Given the description of an element on the screen output the (x, y) to click on. 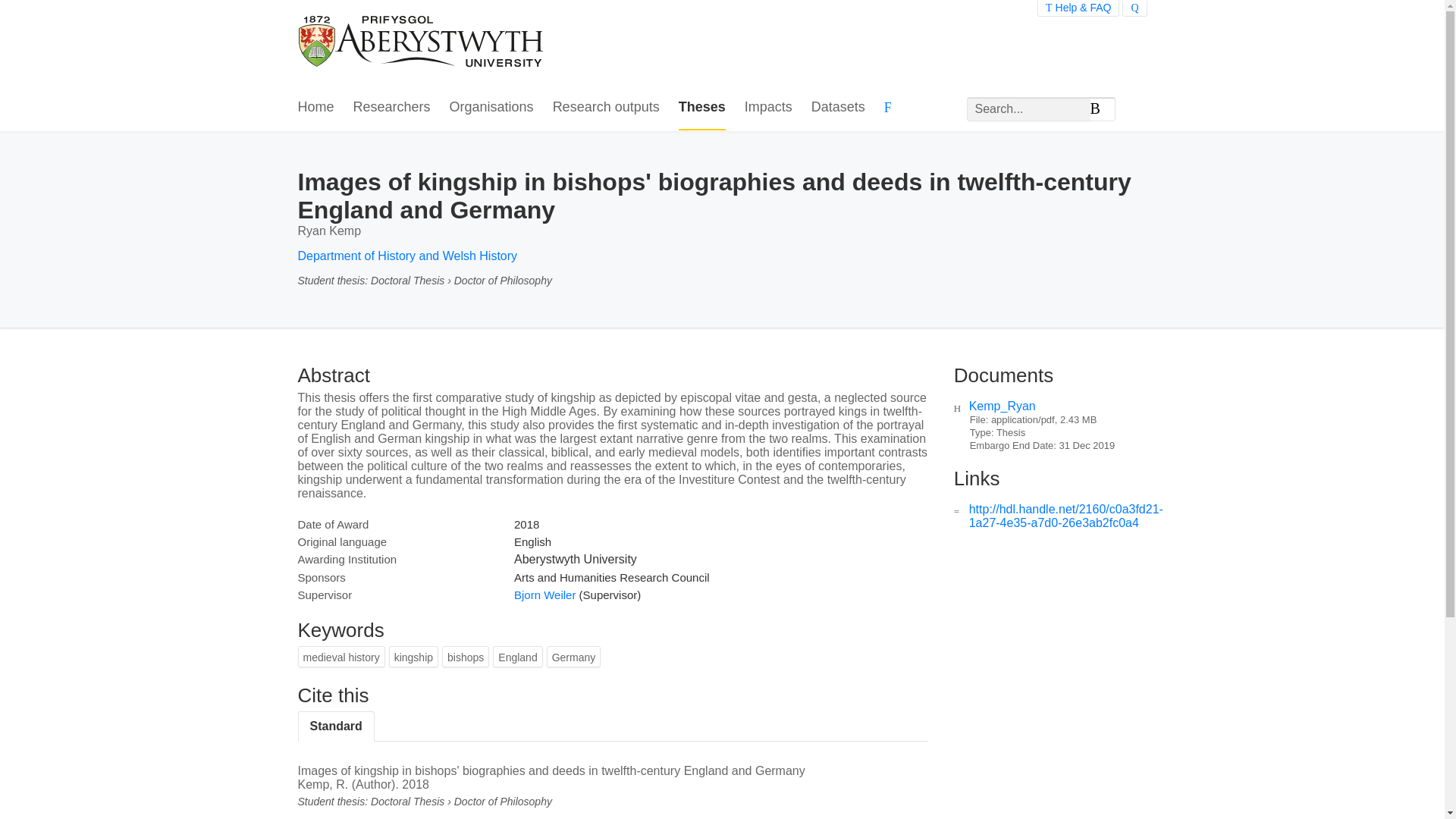
Organisations (491, 107)
Department of History and Welsh History (406, 255)
Bjorn Weiler (544, 594)
Impacts (768, 107)
Aberystwyth Research Portal Home (422, 42)
Datasets (837, 107)
Researchers (391, 107)
Theses (701, 107)
Research outputs (606, 107)
